Given the description of an element on the screen output the (x, y) to click on. 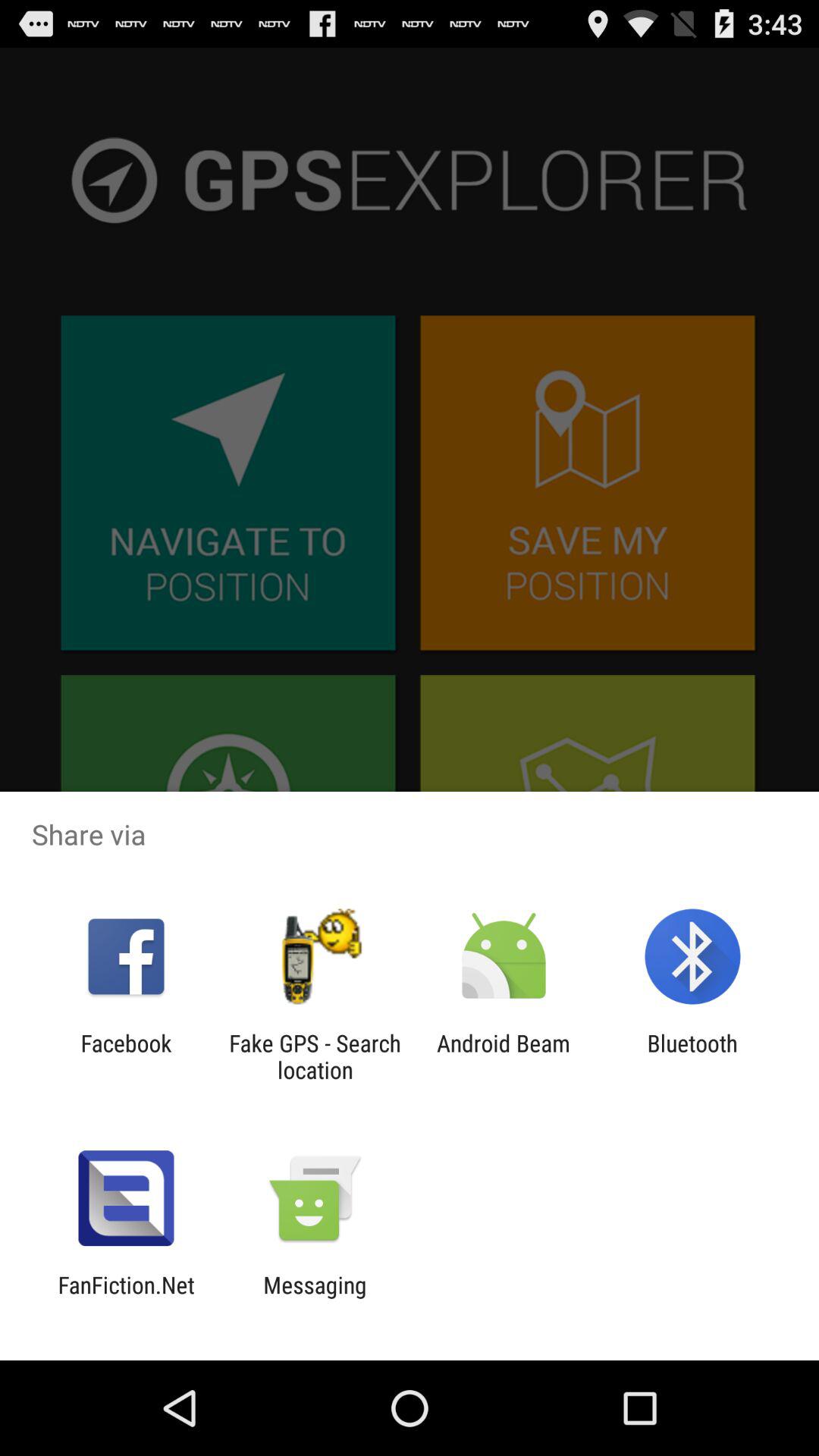
jump until the facebook item (125, 1056)
